Given the description of an element on the screen output the (x, y) to click on. 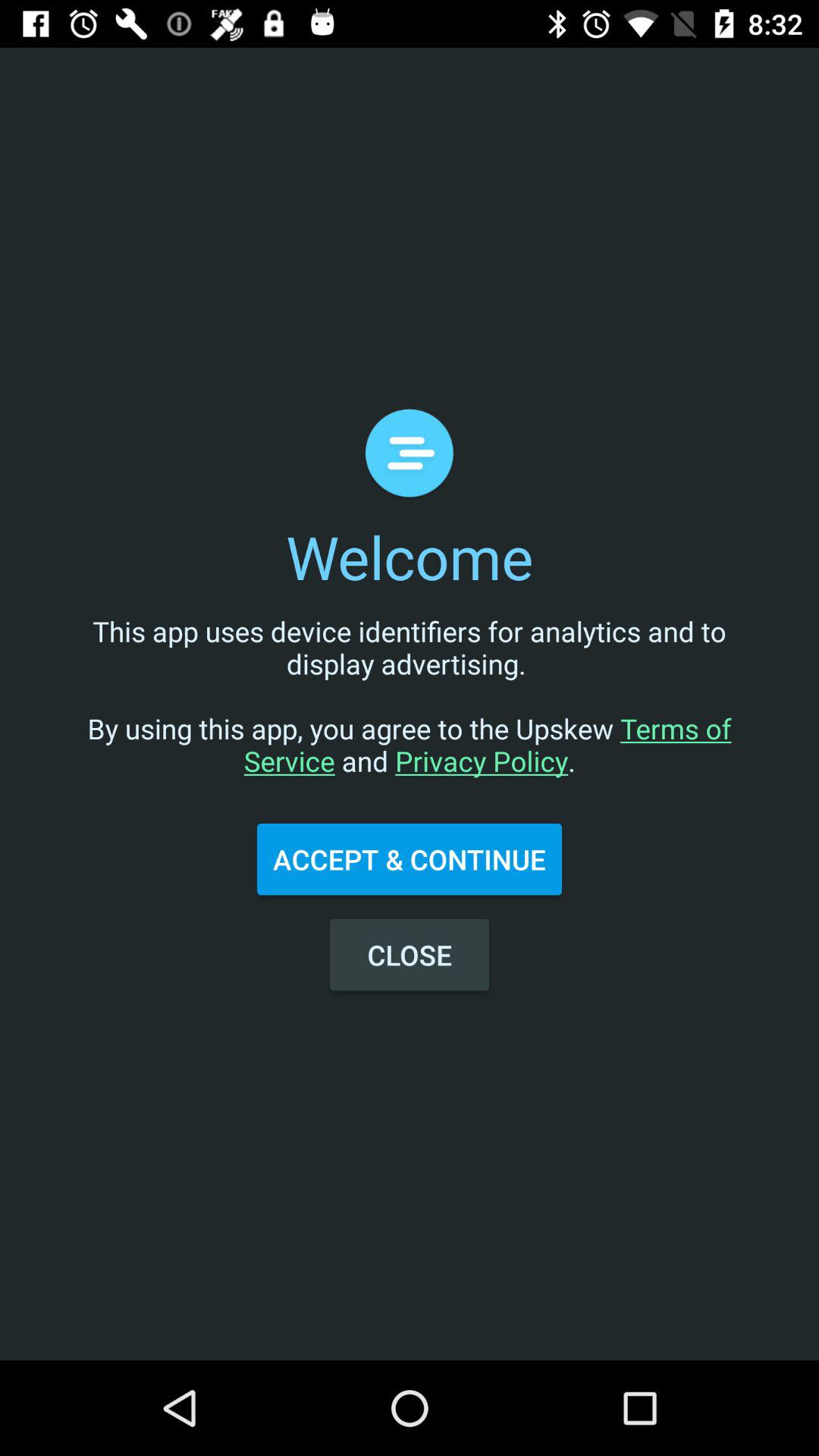
jump to accept & continue icon (409, 859)
